Given the description of an element on the screen output the (x, y) to click on. 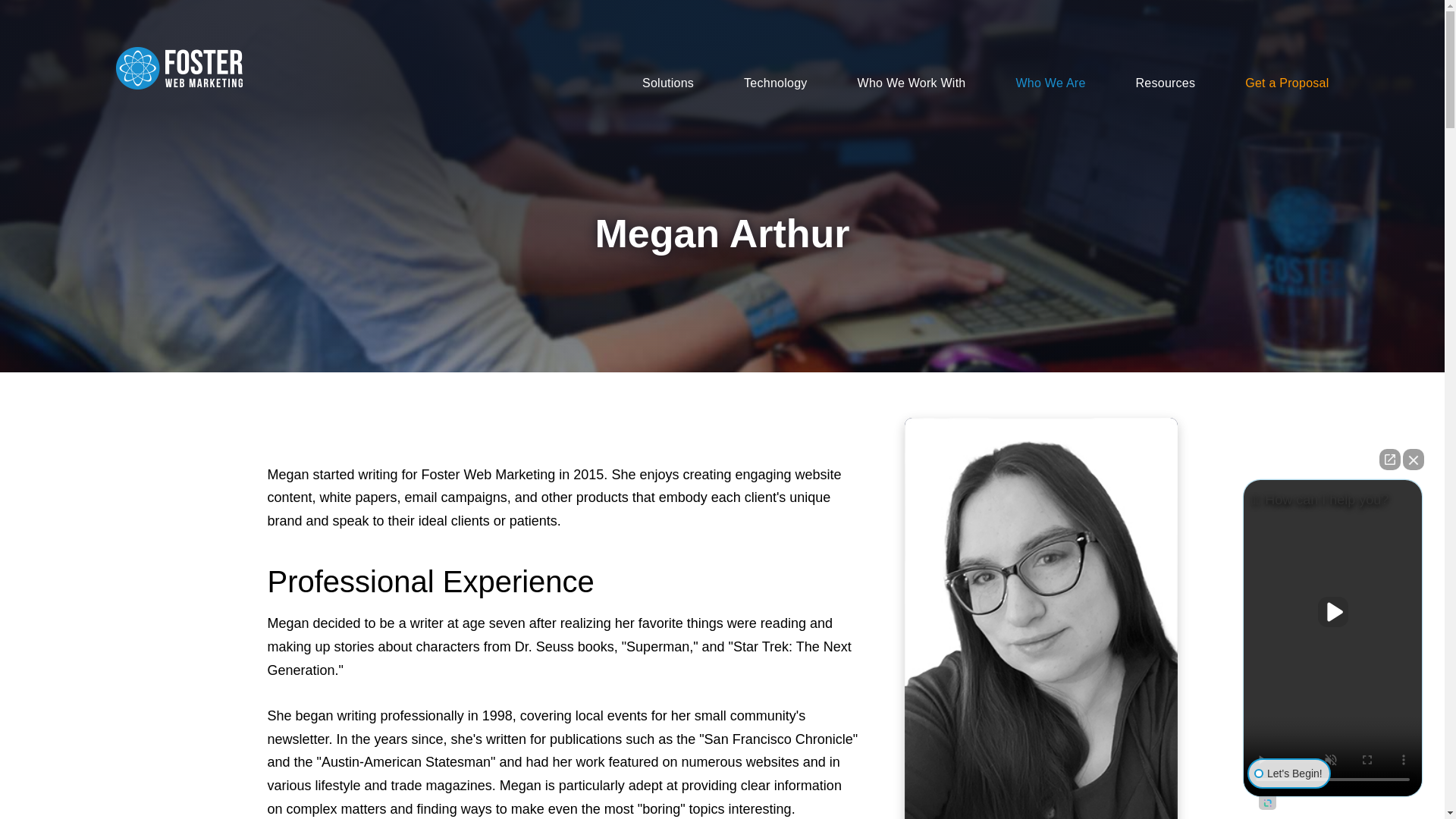
Resources (1140, 83)
Who We Are (1026, 83)
Get a Proposal (1261, 83)
Solutions (643, 83)
Technology (750, 83)
Who We Work With (887, 83)
